Given the description of an element on the screen output the (x, y) to click on. 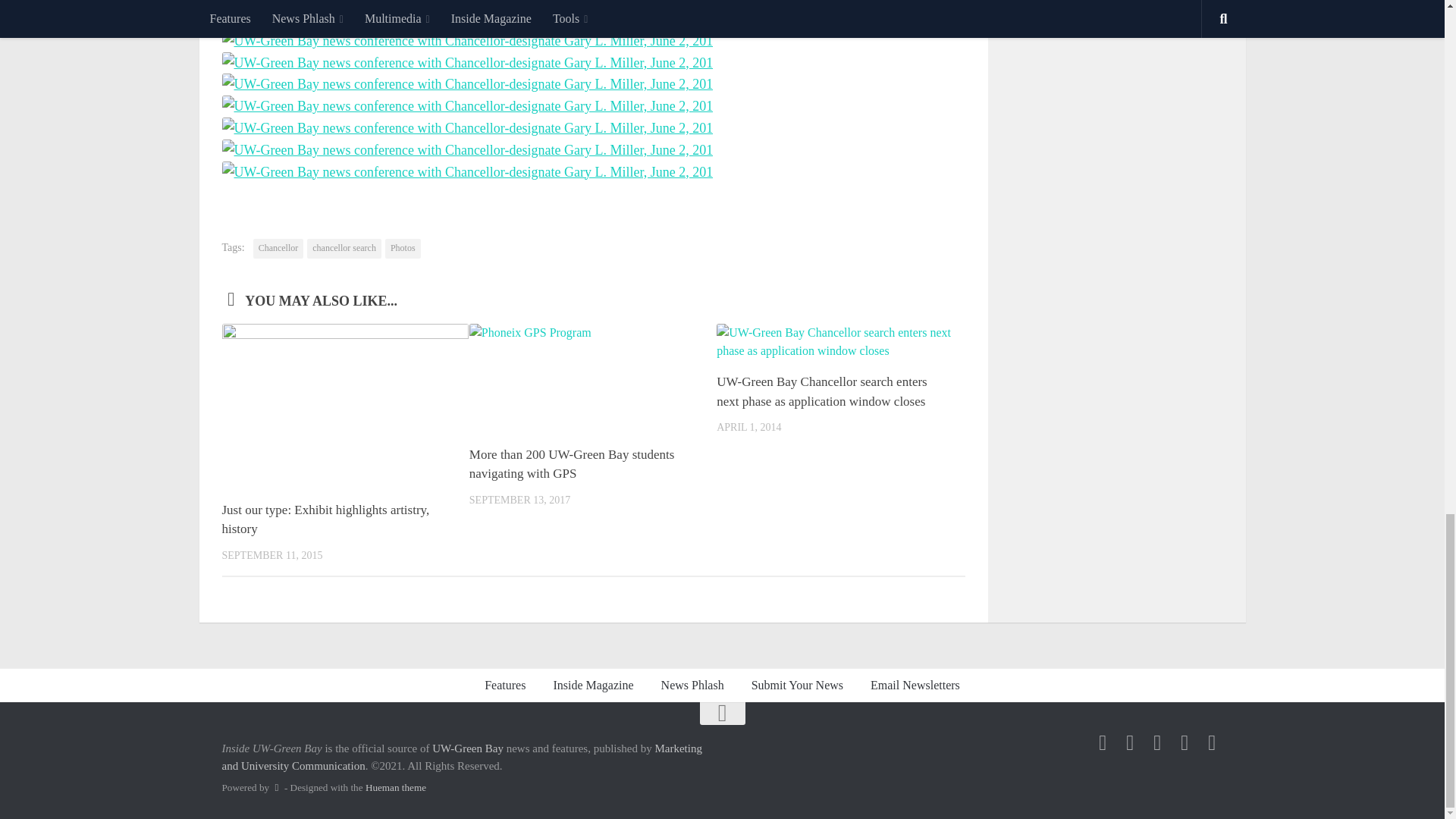
chancellor search (344, 248)
Photos (402, 248)
Chancellor (278, 248)
